Given the description of an element on the screen output the (x, y) to click on. 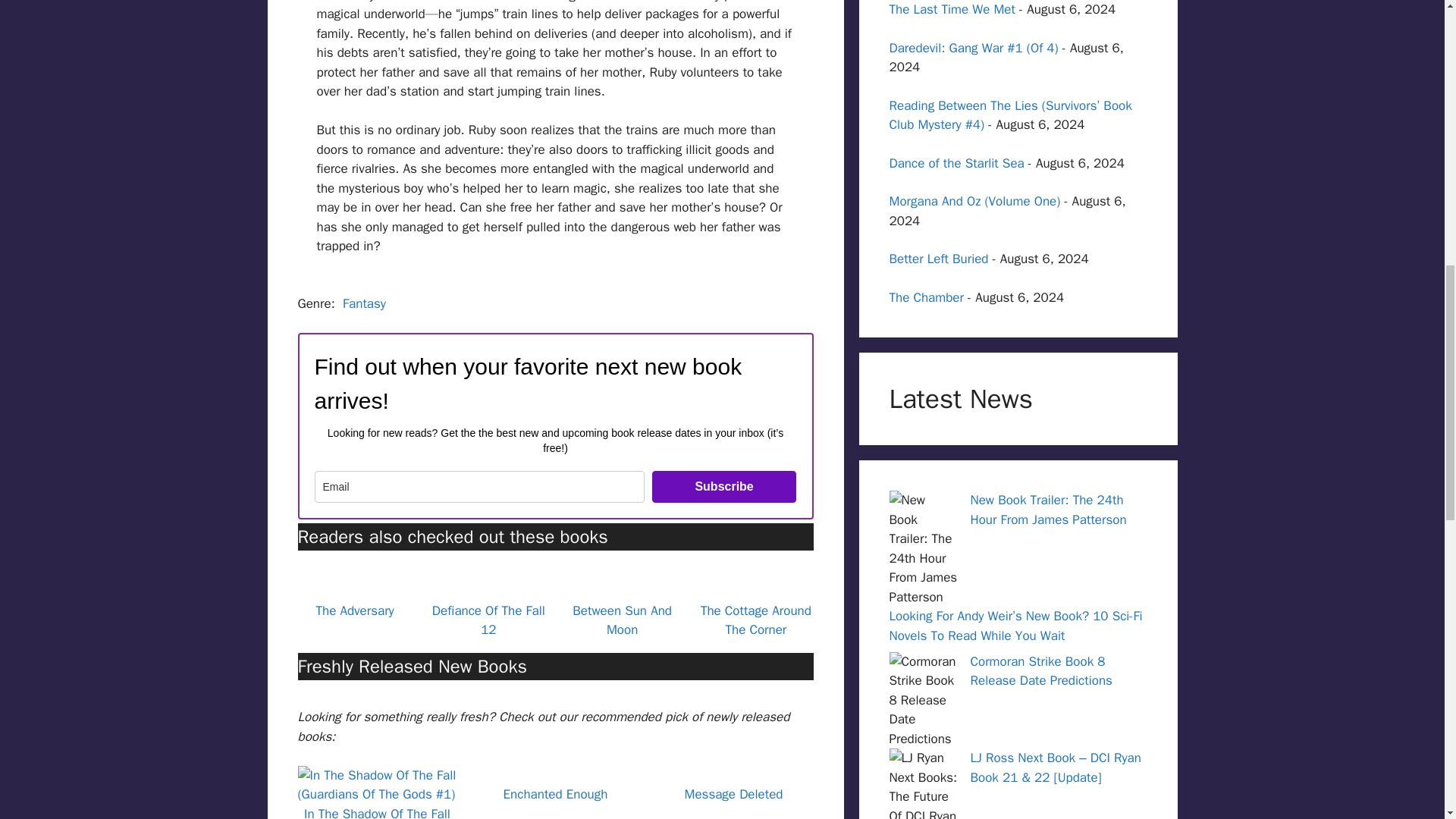
The Adversary (354, 609)
Between Sun And Moon (621, 619)
Scroll back to top (1406, 720)
Fantasy (363, 303)
Defiance Of The Fall 12 (488, 619)
The Cottage Around The Corner (755, 619)
Enchanted Enough (555, 794)
Subscribe (724, 486)
